Given the description of an element on the screen output the (x, y) to click on. 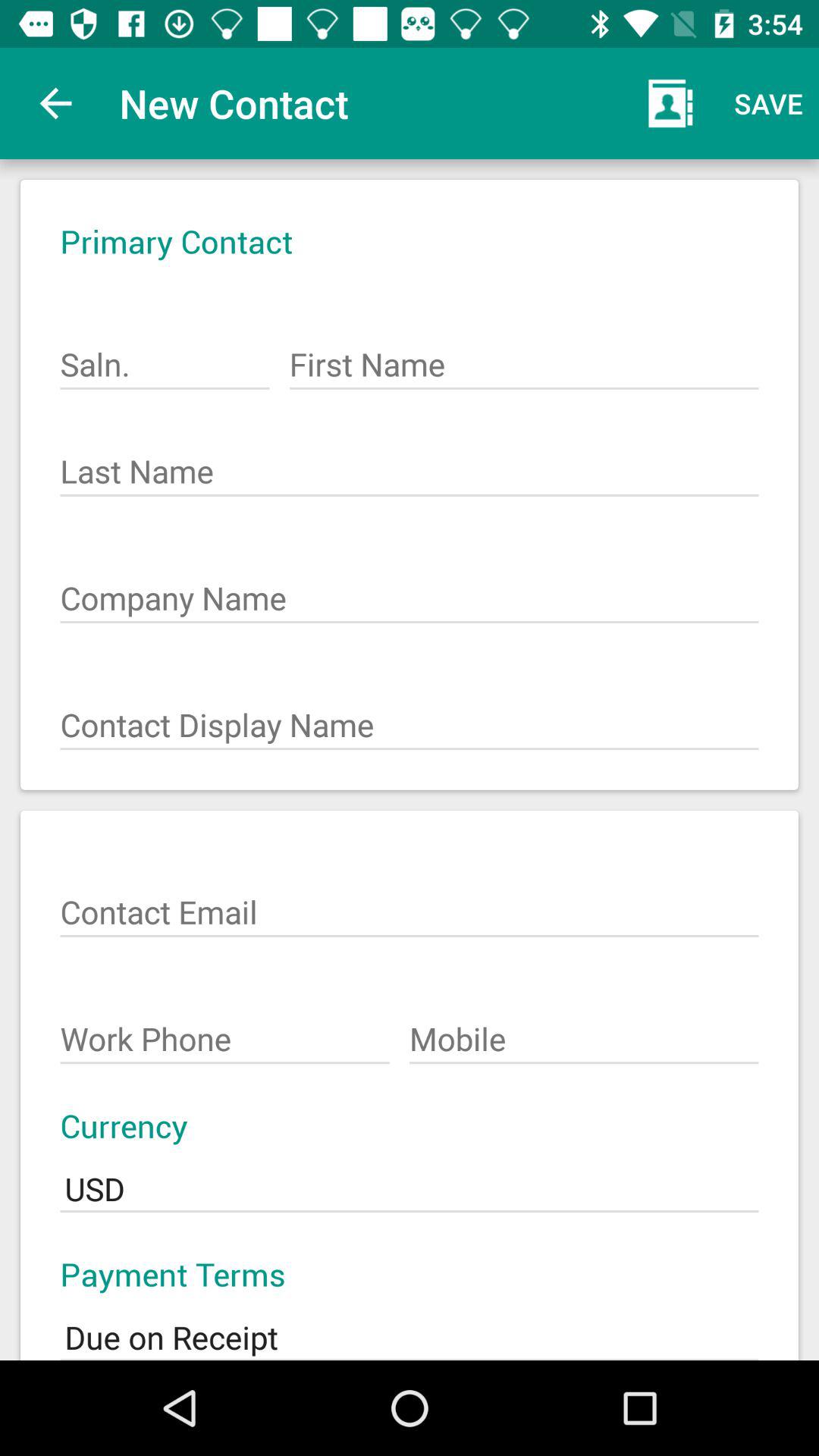
open icon at the bottom right corner (583, 1031)
